Given the description of an element on the screen output the (x, y) to click on. 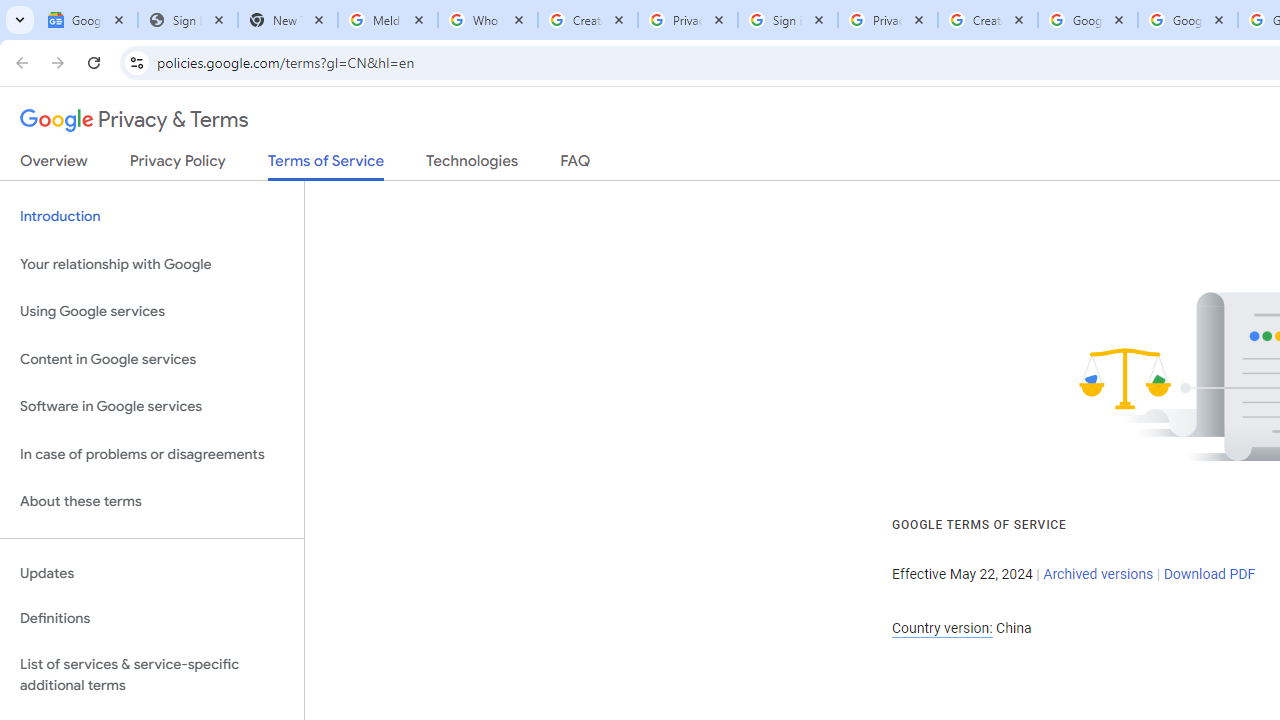
Who is my administrator? - Google Account Help (487, 20)
Create your Google Account (988, 20)
Country version: (942, 628)
New Tab (287, 20)
Using Google services (152, 312)
Google News (87, 20)
About these terms (152, 502)
